Given the description of an element on the screen output the (x, y) to click on. 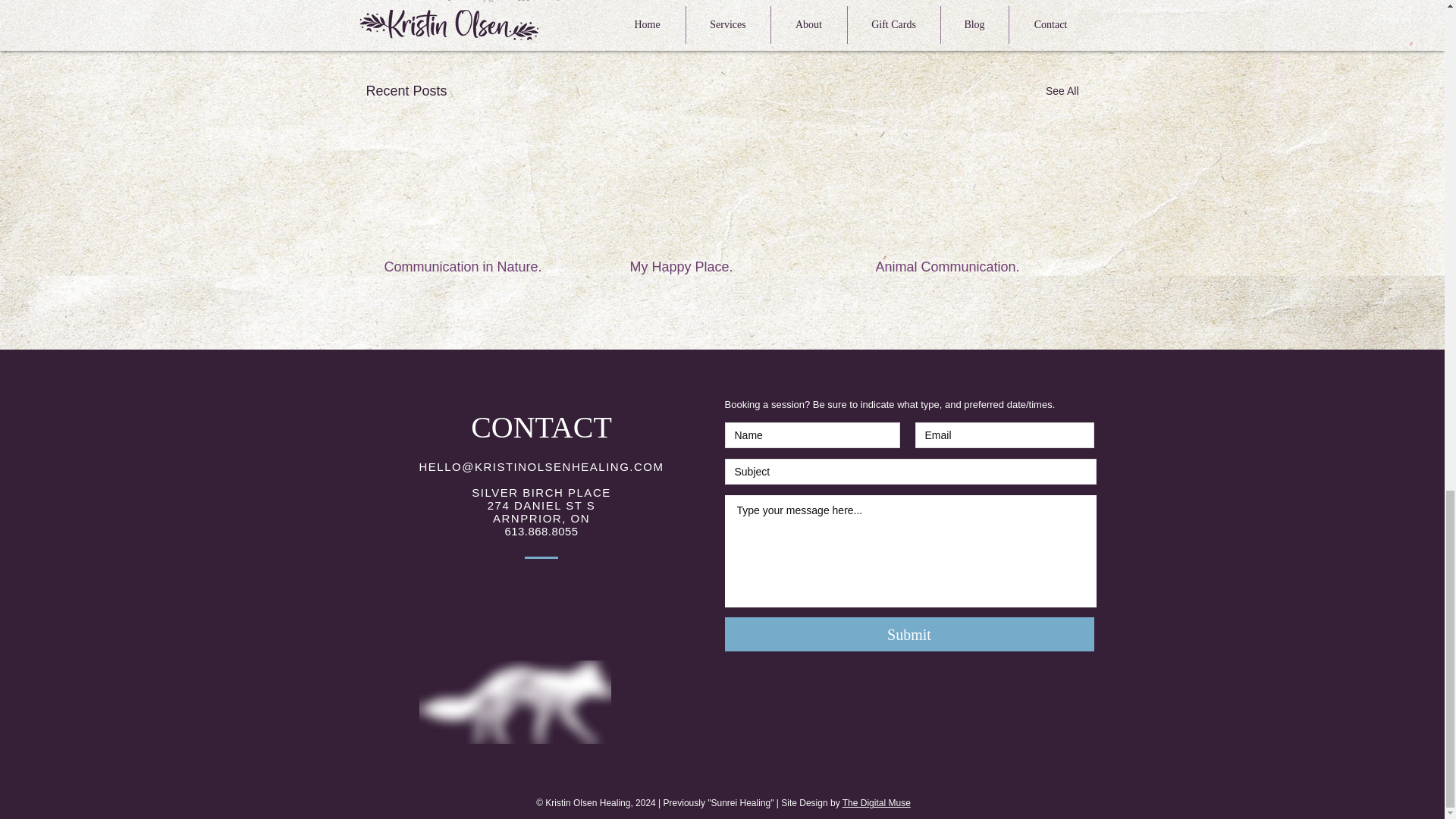
My Happy Place. (720, 267)
See All (1061, 91)
Communication in Nature. (475, 267)
Submit (909, 634)
613.868.8055 (540, 530)
Animal Communication. (966, 267)
The Digital Muse (877, 802)
